Given the description of an element on the screen output the (x, y) to click on. 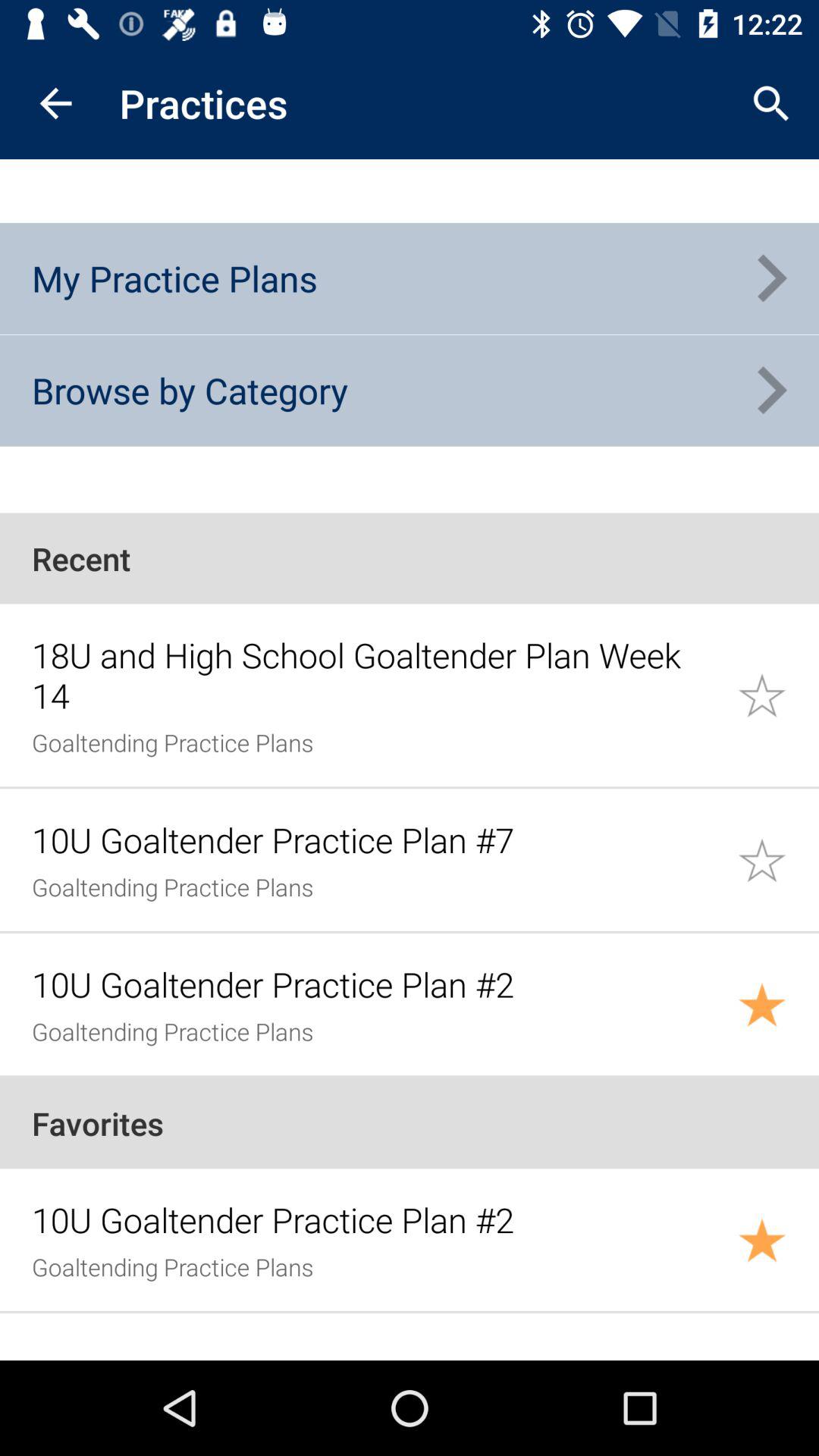
choose the item below recent icon (376, 674)
